Given the description of an element on the screen output the (x, y) to click on. 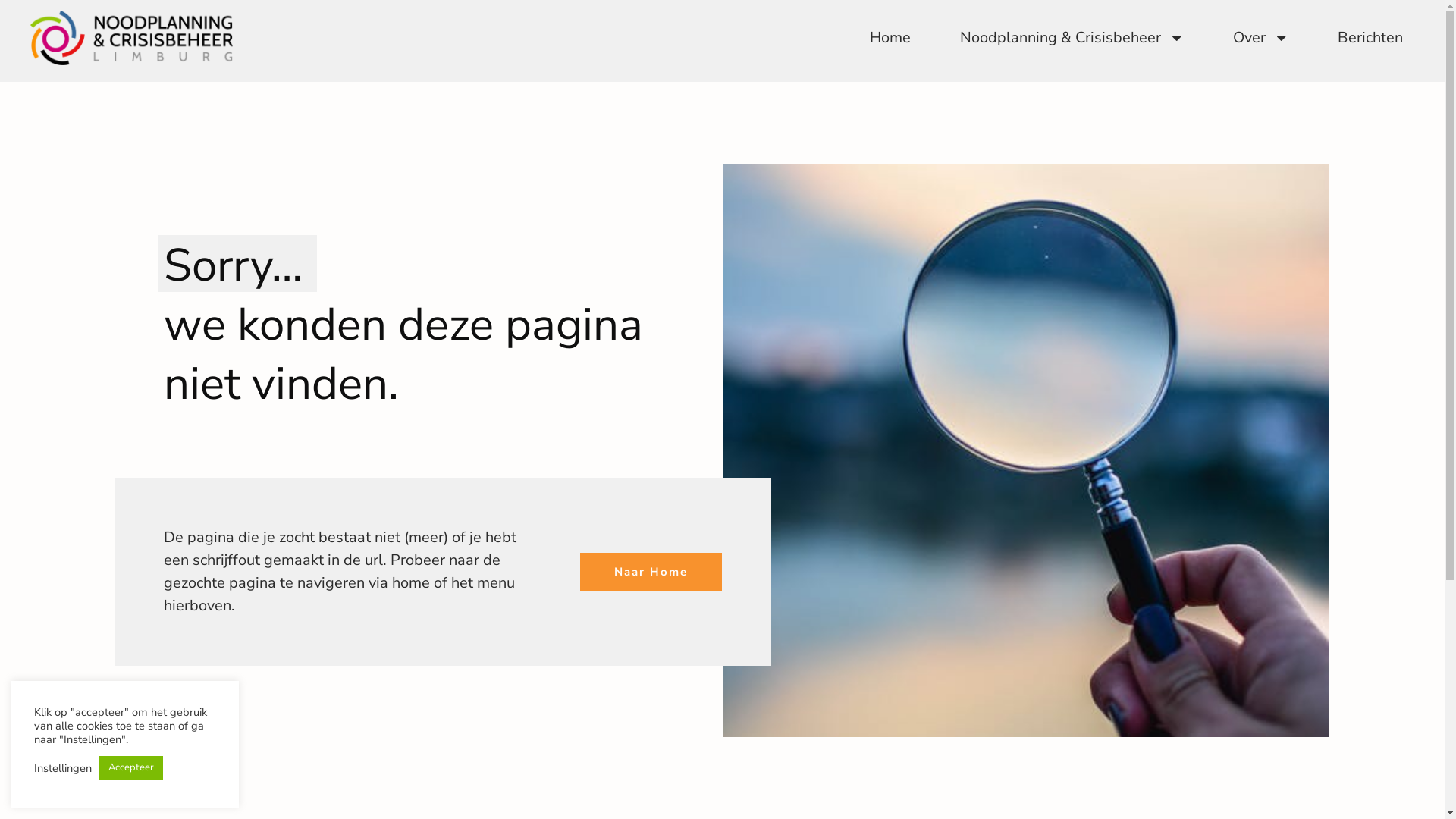
Noodplanning & Crisisbeheer Element type: text (1071, 37)
Over Element type: text (1260, 37)
Naar Home Element type: text (650, 571)
Home Element type: text (890, 37)
Instellingen Element type: text (62, 768)
Accepteer Element type: text (131, 767)
Berichten Element type: text (1370, 37)
